Given the description of an element on the screen output the (x, y) to click on. 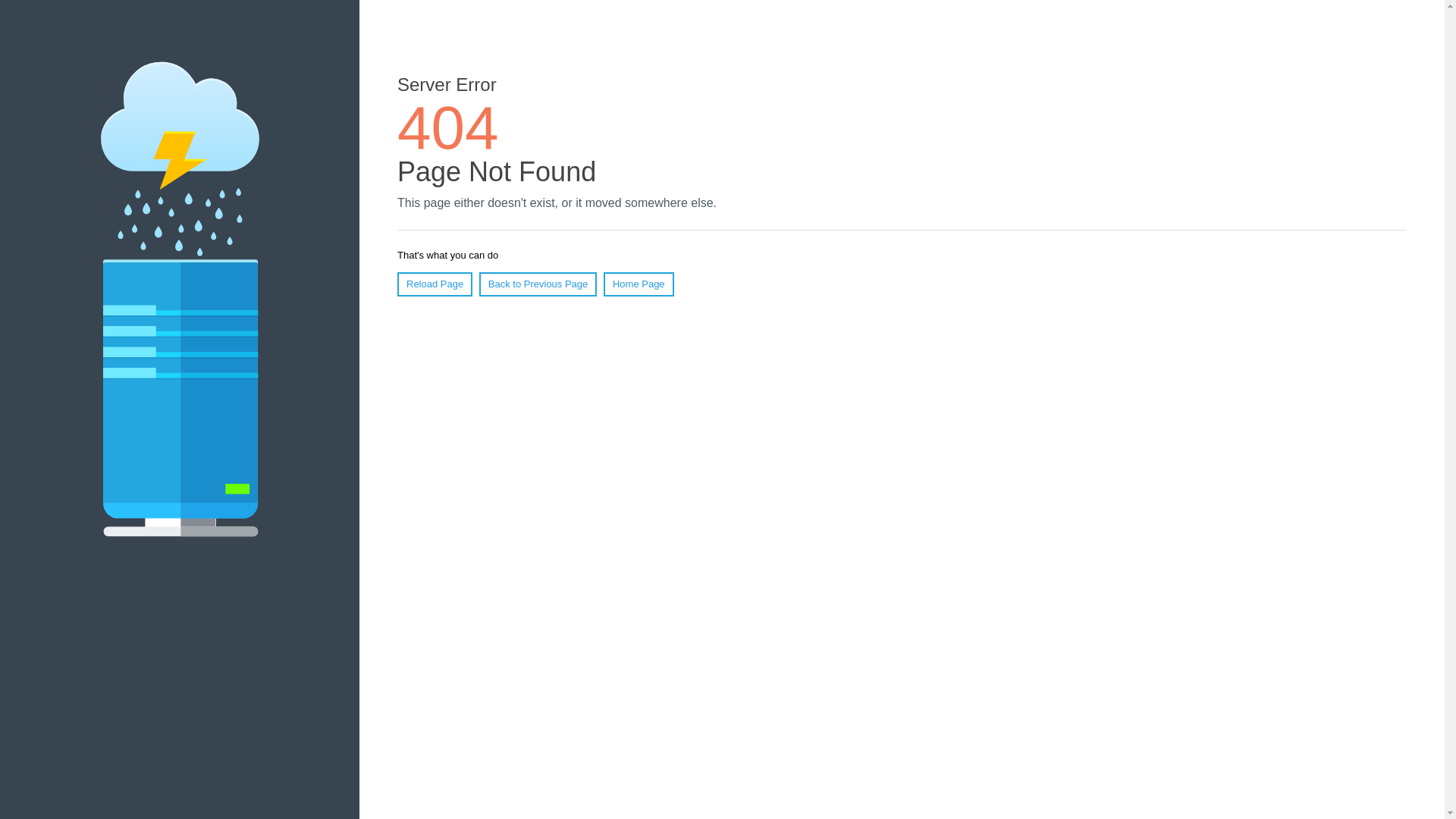
Reload Page Element type: text (434, 284)
Back to Previous Page Element type: text (538, 284)
Home Page Element type: text (638, 284)
